Given the description of an element on the screen output the (x, y) to click on. 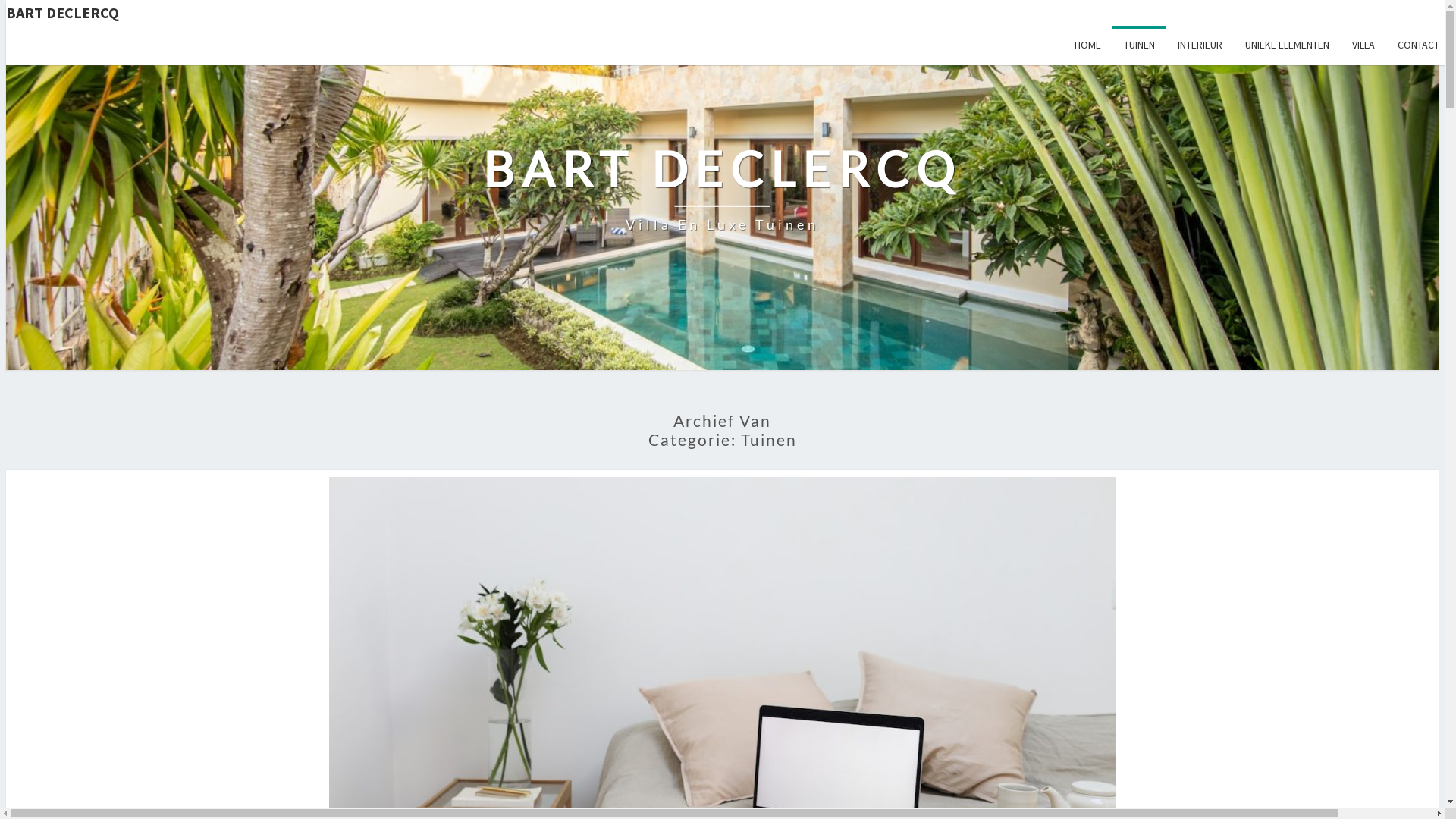
TUINEN Element type: text (1139, 45)
BART DECLERCQ
Villa En Luxe Tuinen Element type: text (722, 187)
HOME Element type: text (1087, 45)
BART DECLERCQ Element type: text (728, 12)
UNIEKE ELEMENTEN Element type: text (1286, 45)
VILLA Element type: text (1363, 45)
INTERIEUR Element type: text (1199, 45)
CONTACT Element type: text (1418, 45)
